Given the description of an element on the screen output the (x, y) to click on. 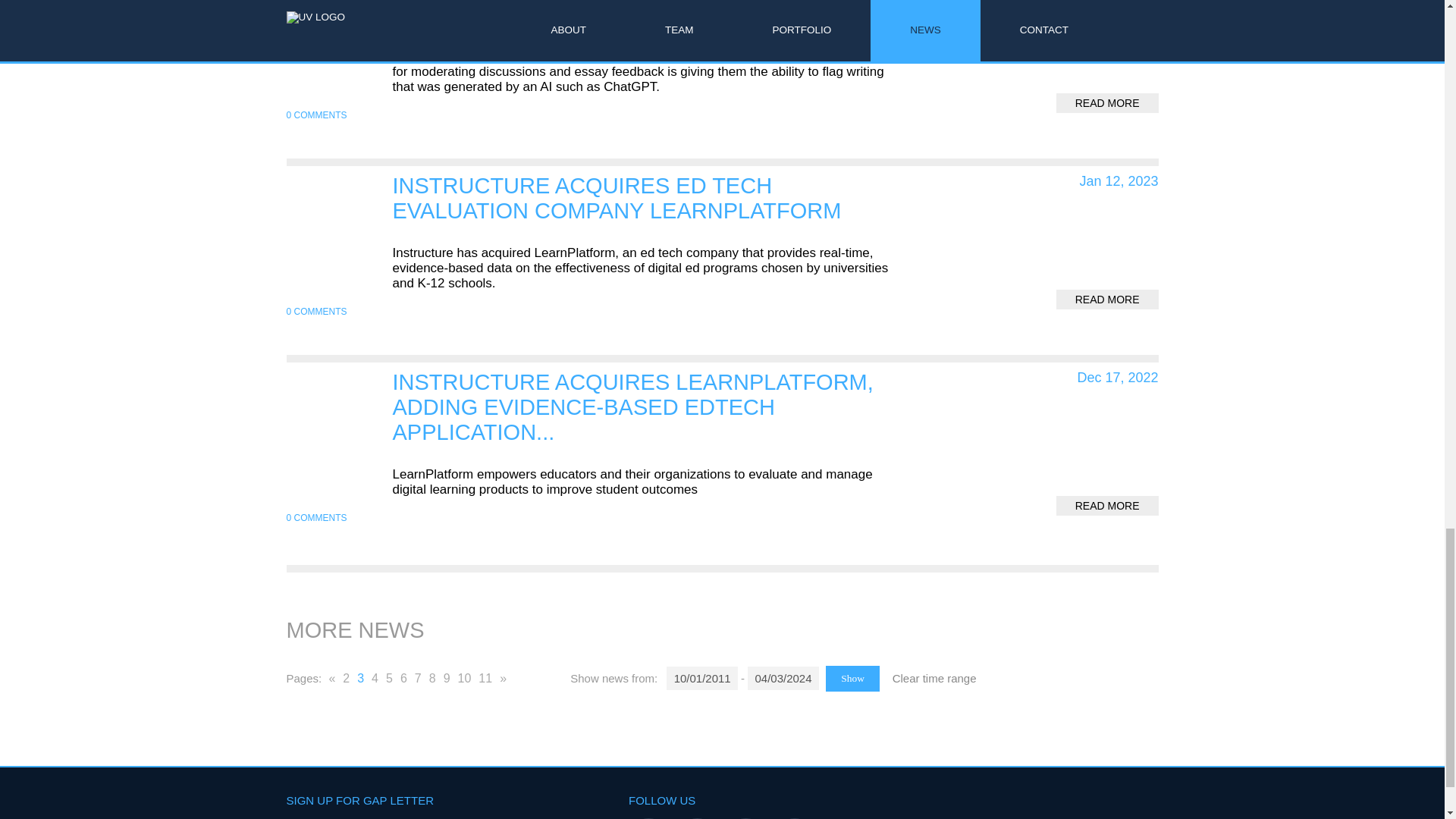
READ MORE (1107, 299)
Packback Adds AI-Generated Writing Detection Feature (600, 13)
Clear time range (933, 677)
UV Tweets (697, 818)
10 (465, 679)
READ MORE (1107, 103)
UV on Facebook (745, 818)
